Given the description of an element on the screen output the (x, y) to click on. 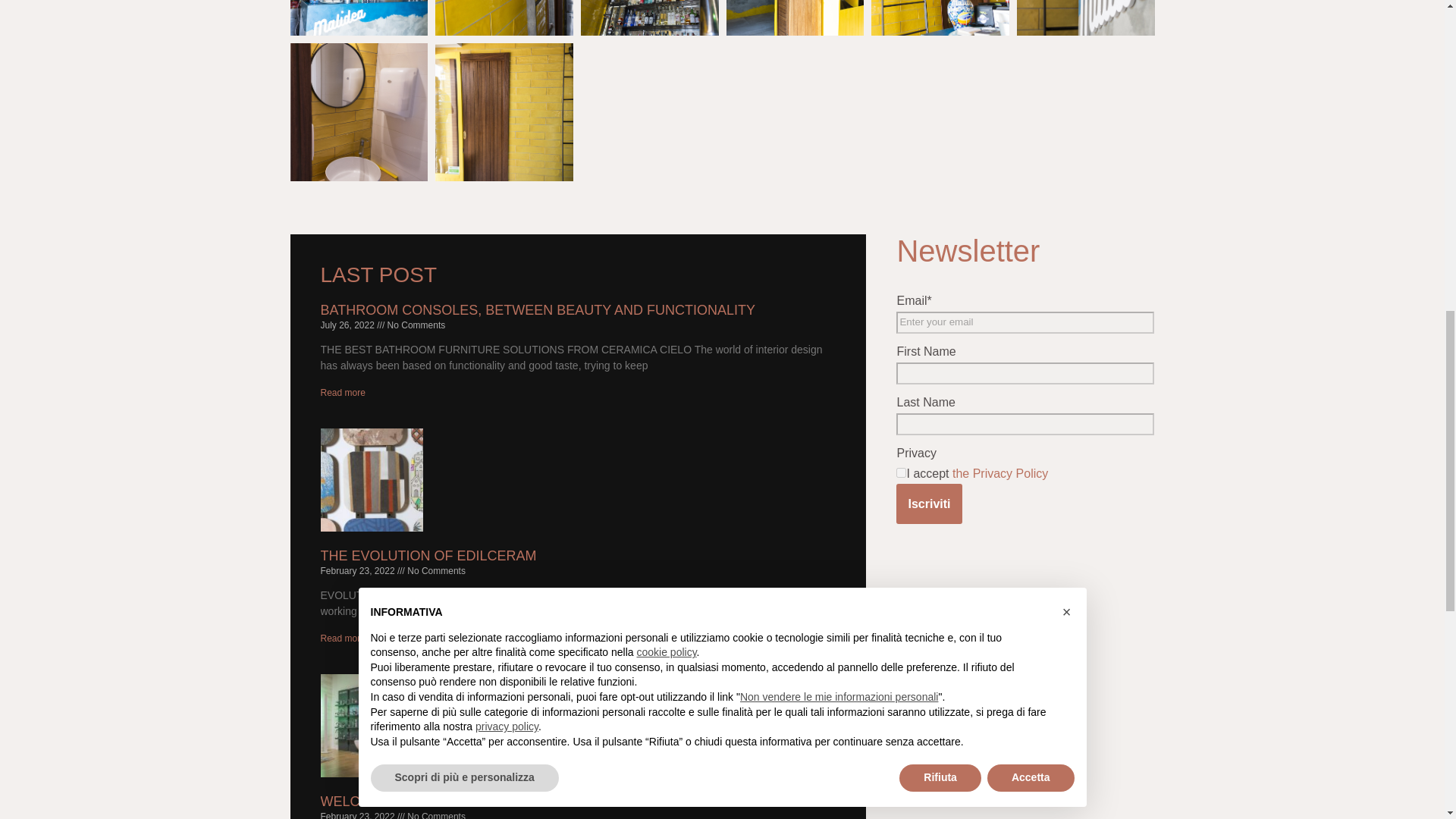
on (900, 472)
